Given the description of an element on the screen output the (x, y) to click on. 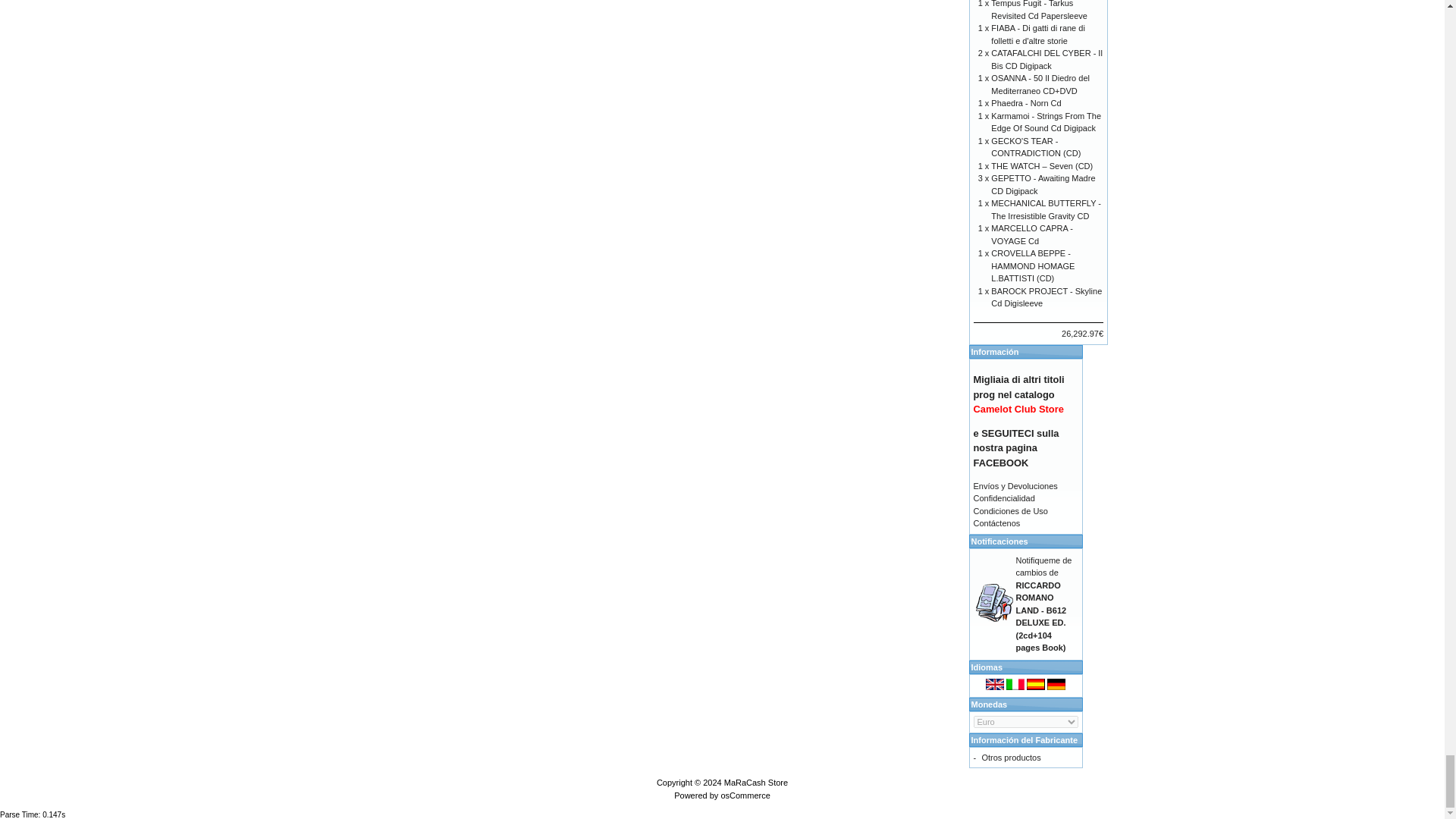
German (1055, 684)
Espanol (1035, 684)
Italiano (1015, 684)
Notificaciones (994, 602)
English (994, 684)
